Given the description of an element on the screen output the (x, y) to click on. 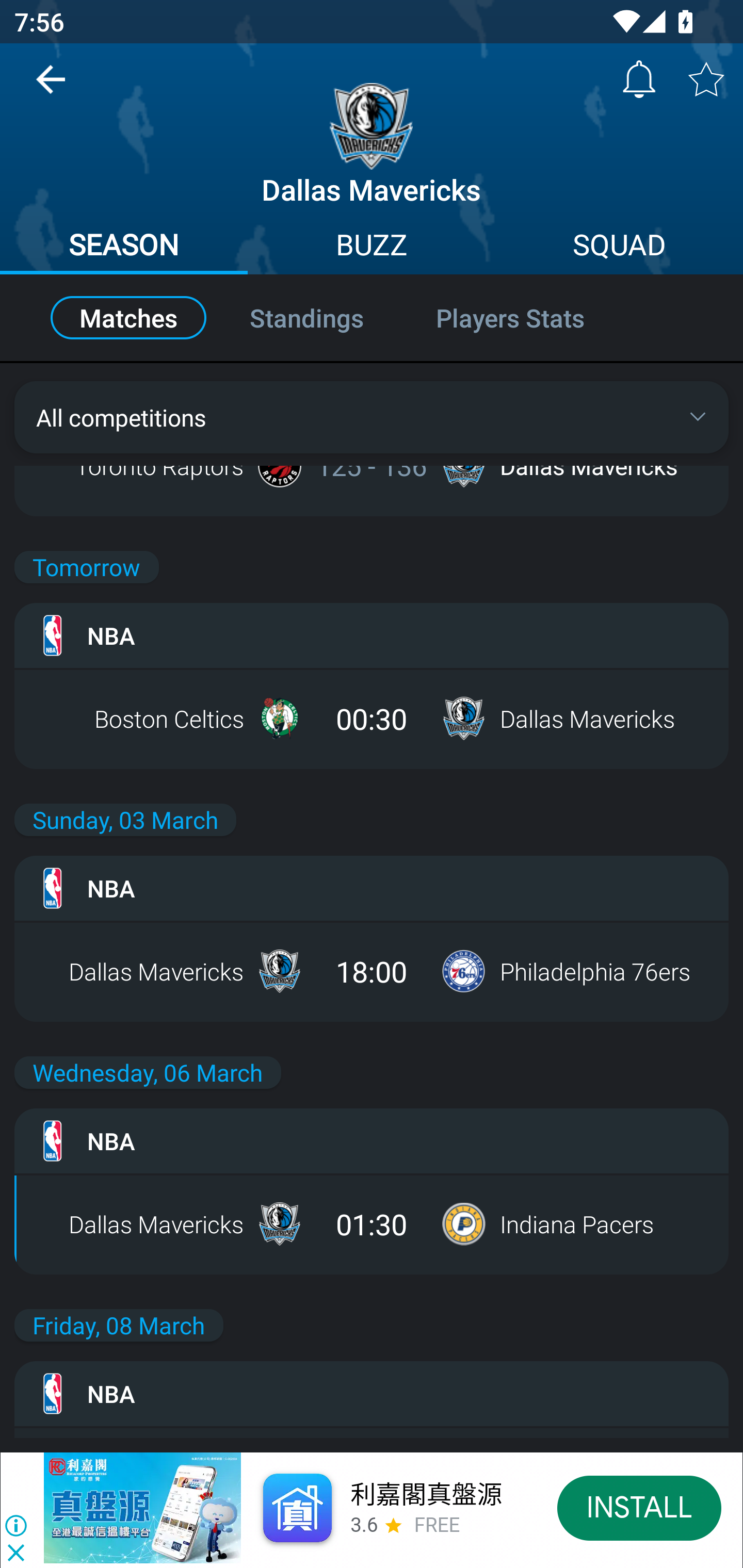
Navigate up (50, 86)
SEASON (123, 246)
BUZZ (371, 246)
SQUAD (619, 246)
Standings (306, 317)
Players Stats (531, 317)
All competitions (371, 417)
NBA (371, 635)
Boston Celtics 00:30 Dallas Mavericks (371, 717)
NBA (371, 888)
Dallas Mavericks 18:00 Philadelphia 76ers (371, 971)
NBA (371, 1140)
Dallas Mavericks 01:30 Indiana Pacers (371, 1223)
NBA (371, 1393)
INSTALL (639, 1507)
利嘉閣真盤源 (425, 1494)
